Given the description of an element on the screen output the (x, y) to click on. 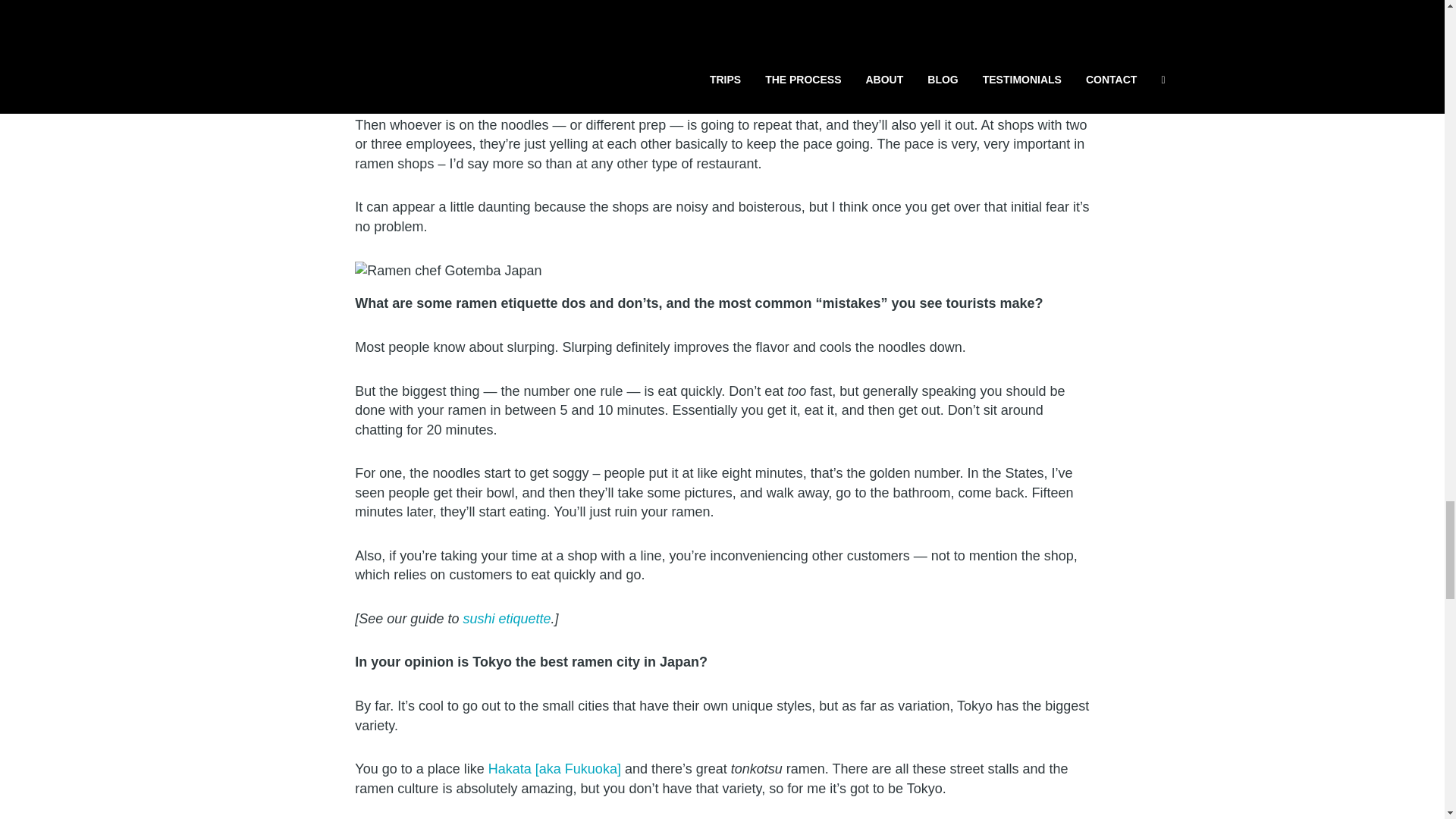
sushi etiquette (506, 618)
